Given the description of an element on the screen output the (x, y) to click on. 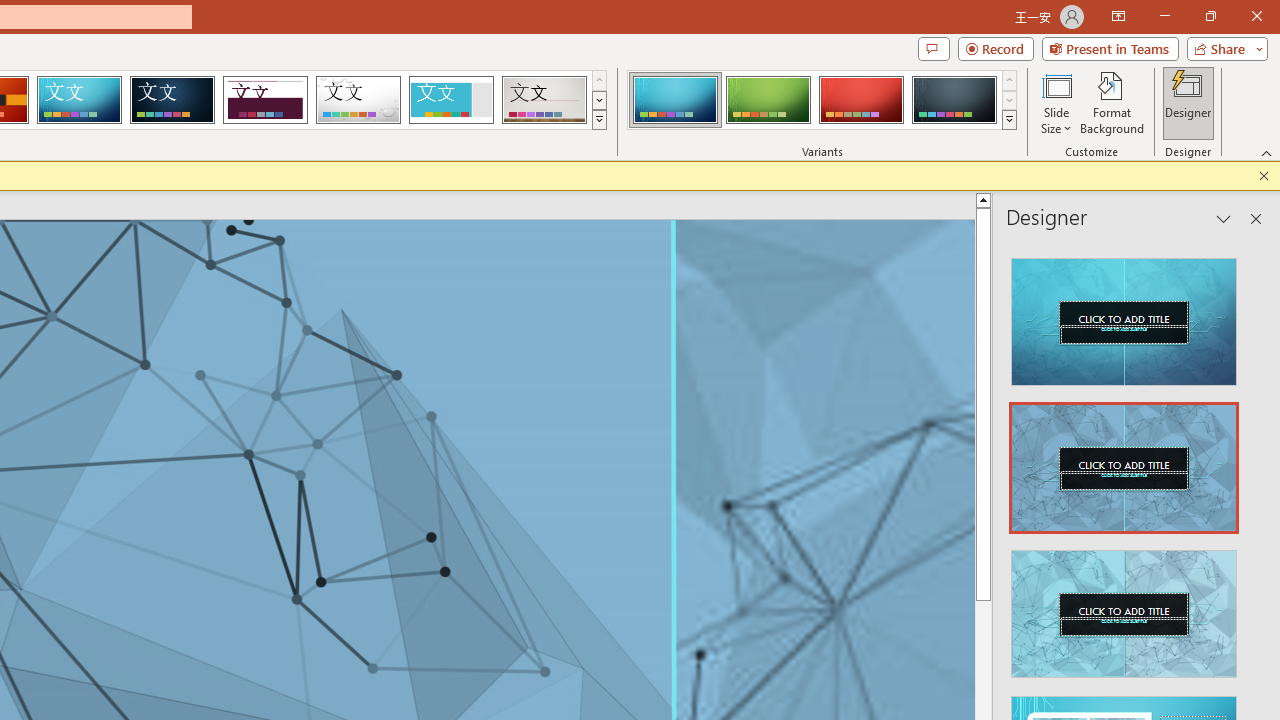
Circuit Variant 2 (768, 100)
Close this message (1263, 176)
